Given the description of an element on the screen output the (x, y) to click on. 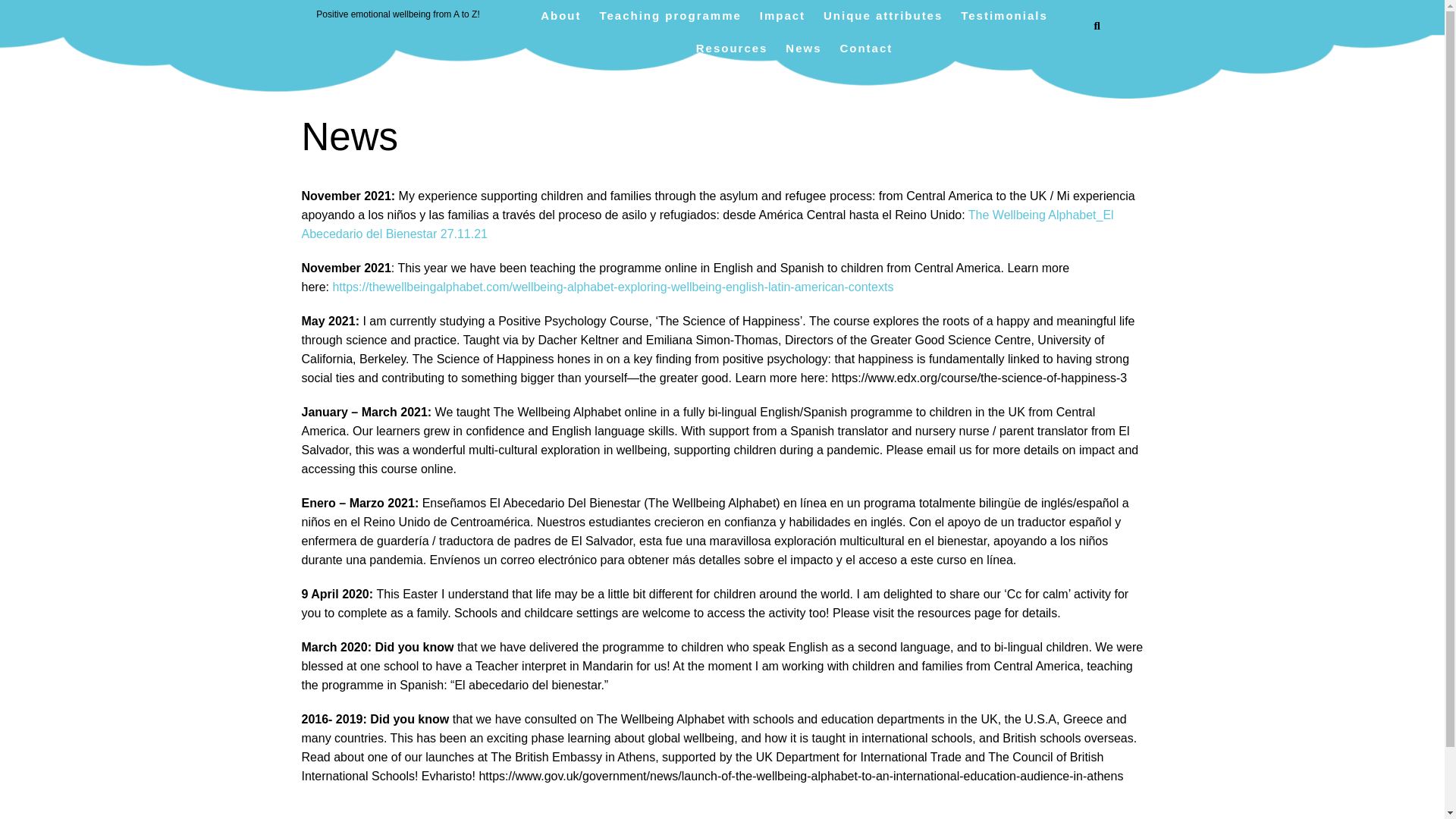
About (560, 16)
Contact (865, 47)
Resources (732, 47)
Teaching programme (669, 16)
Unique attributes (882, 16)
News (802, 47)
Impact (782, 16)
Testimonials (1004, 16)
